Given the description of an element on the screen output the (x, y) to click on. 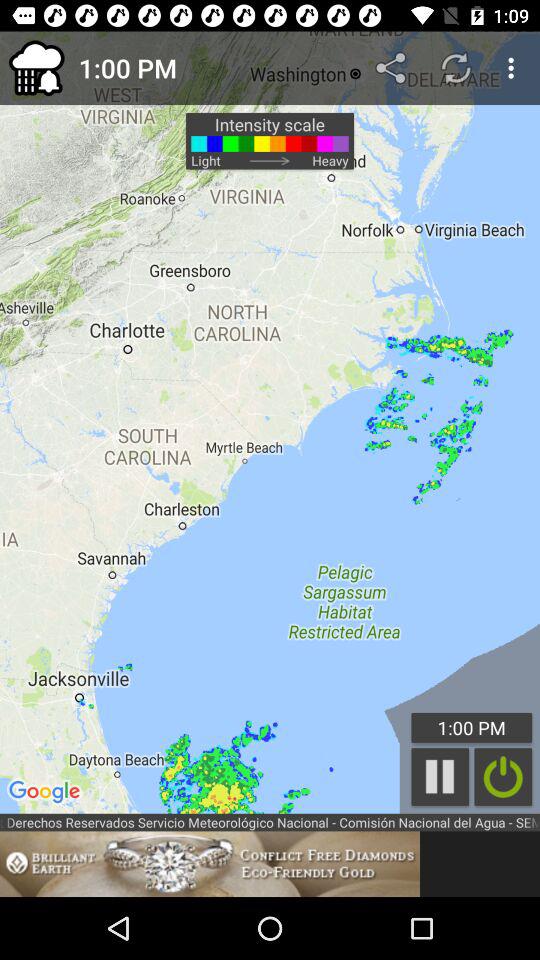
turn off the item above national weather service item (270, 422)
